Given the description of an element on the screen output the (x, y) to click on. 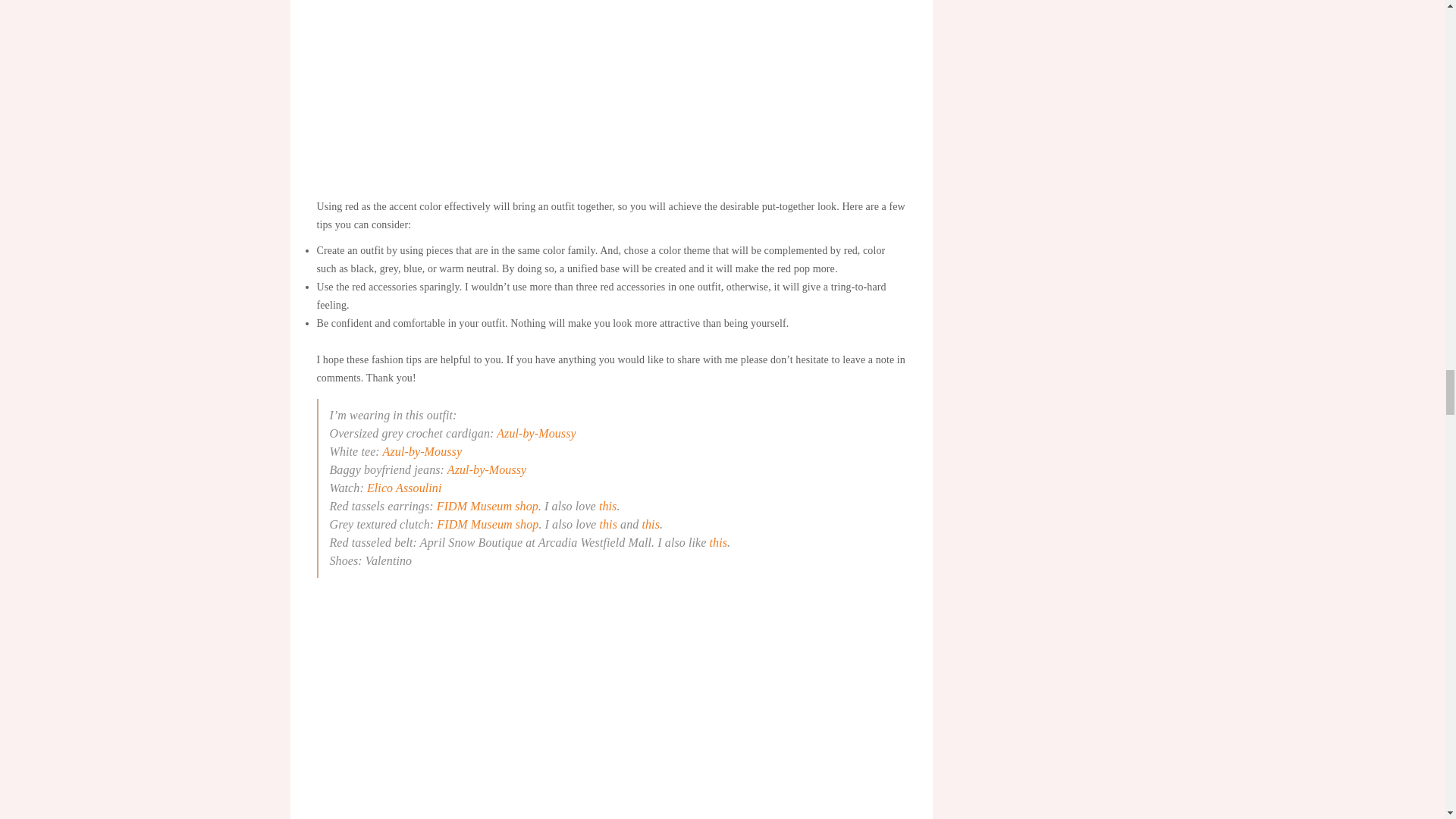
Elico Assoulini (404, 487)
FIDM Museum shop (487, 505)
FIDM Museum shop (487, 523)
Azul-by-Moussy (486, 469)
this (607, 523)
this (650, 523)
Azul-by-Moussy (422, 451)
this (607, 505)
this (719, 542)
Azul-by-Moussy (536, 432)
